Given the description of an element on the screen output the (x, y) to click on. 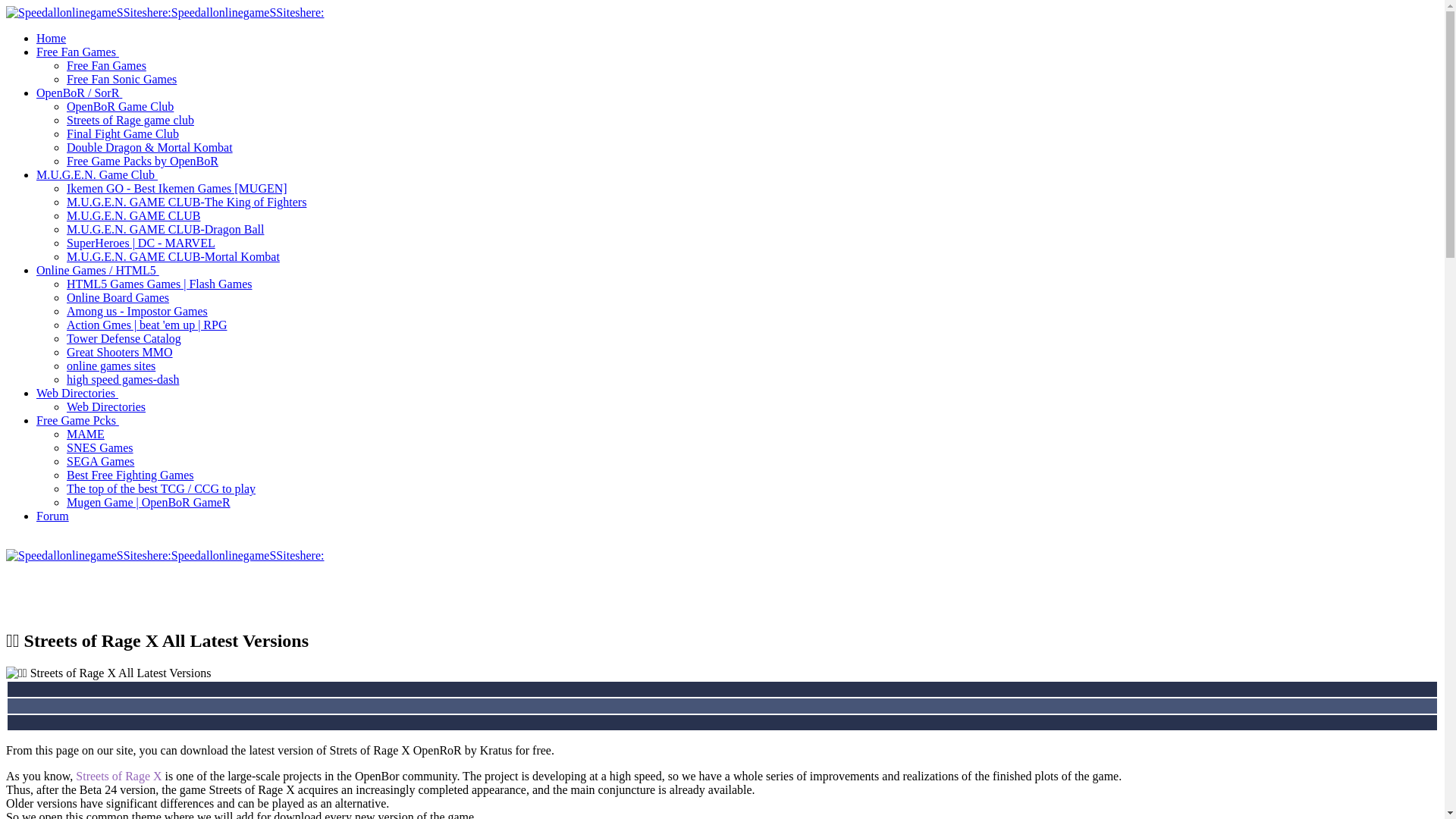
high speed games-dash (122, 379)
Forum (52, 515)
Free Game Pcks   (79, 420)
Home (50, 38)
Tower Defense Catalog (123, 338)
M.U.G.E.N. GAME CLUB-Mortal Kombat (172, 256)
Final Fight Game Club (122, 133)
online games sites (110, 365)
Free Game Packs by OpenBoR (142, 160)
M.U.G.E.N. GAME CLUB-Dragon Ball (164, 228)
